Given the description of an element on the screen output the (x, y) to click on. 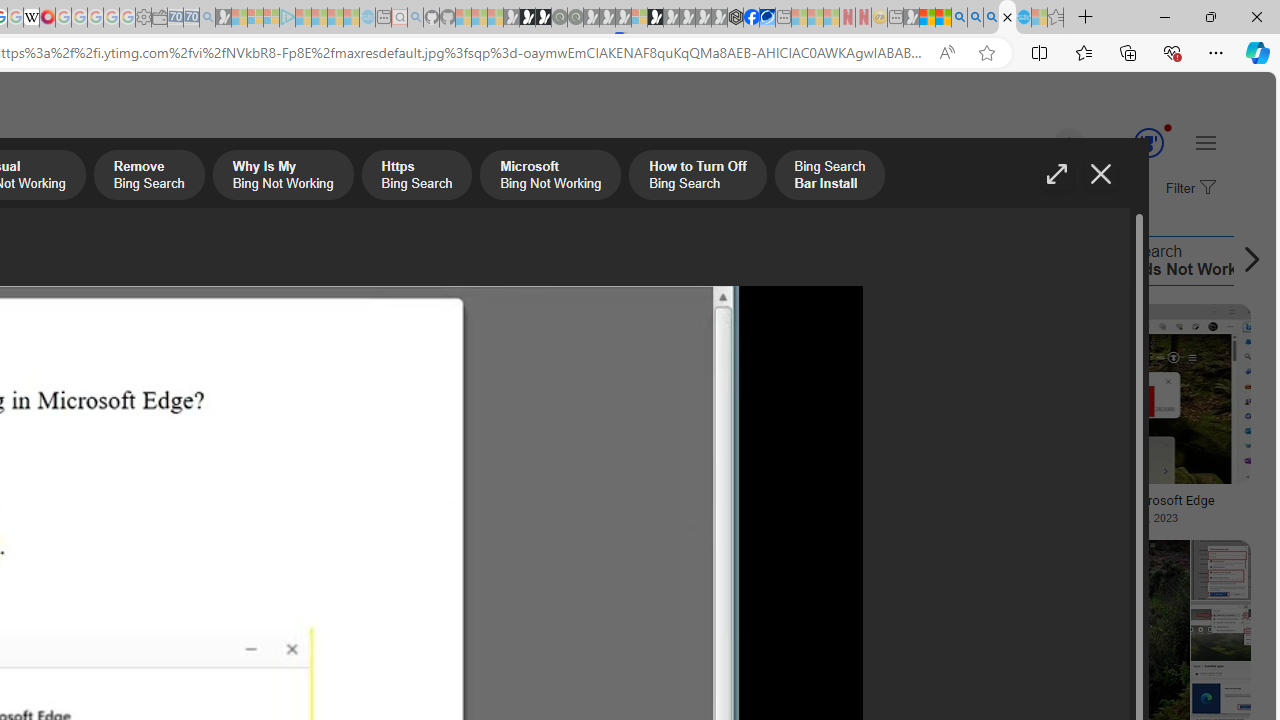
Services - Maintenance | Sky Blue Bikes - Sky Blue Bikes (1023, 17)
Close image (1100, 173)
Filter (1188, 189)
Scroll right (1246, 260)
MSN - Sleeping (911, 17)
Animation (1167, 127)
Bing Search Not Working - Search Images (1007, 17)
